Given the description of an element on the screen output the (x, y) to click on. 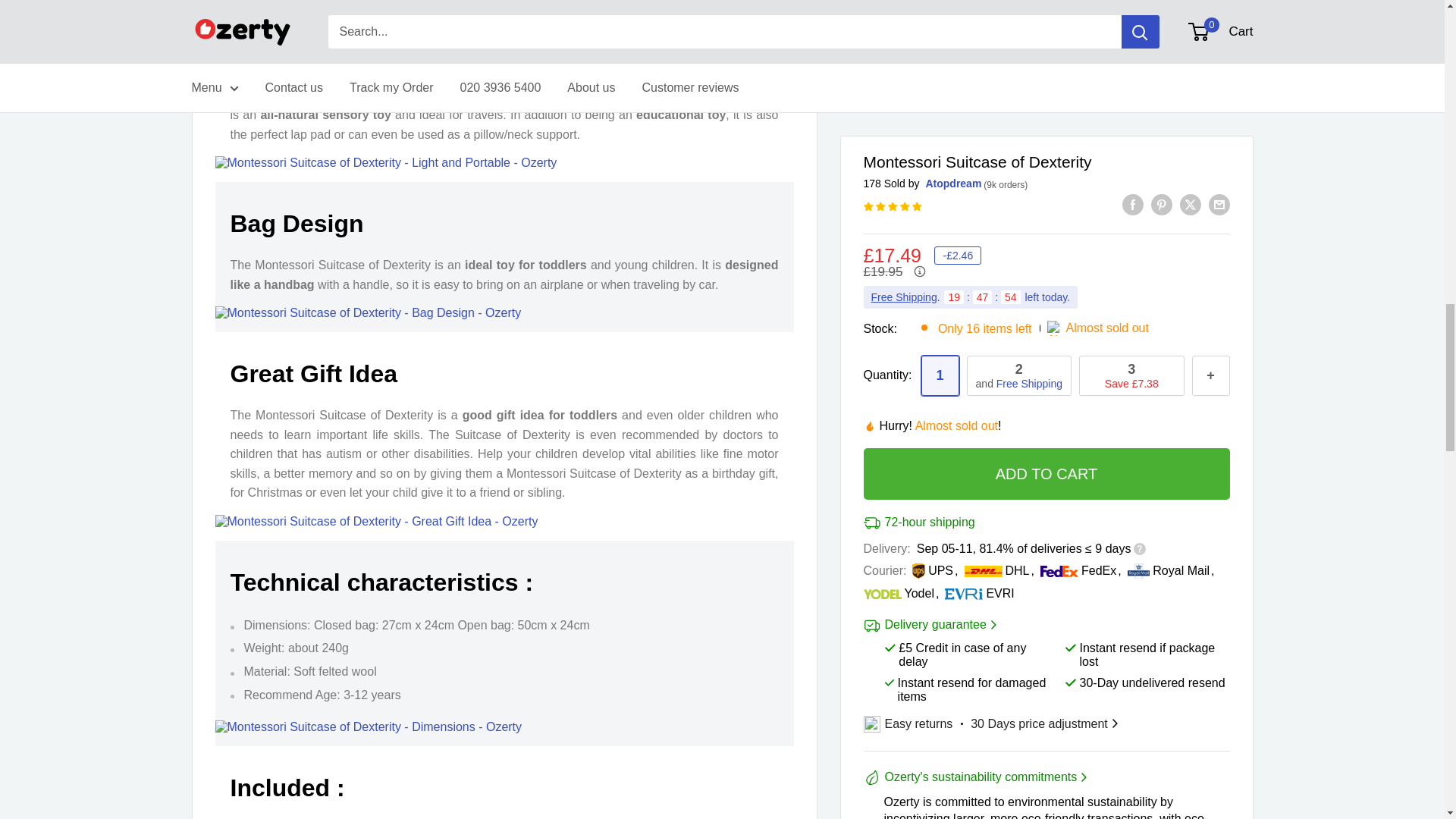
Montessori Suitcase of Dexterity - Dimensions - Ozerty (368, 726)
Montessori Suitcase of Dexterity - Great Gift Idea - Ozerty (376, 521)
Montessori Suitcase of Dexterity - Bag Design - Ozerty (368, 313)
